Given the description of an element on the screen output the (x, y) to click on. 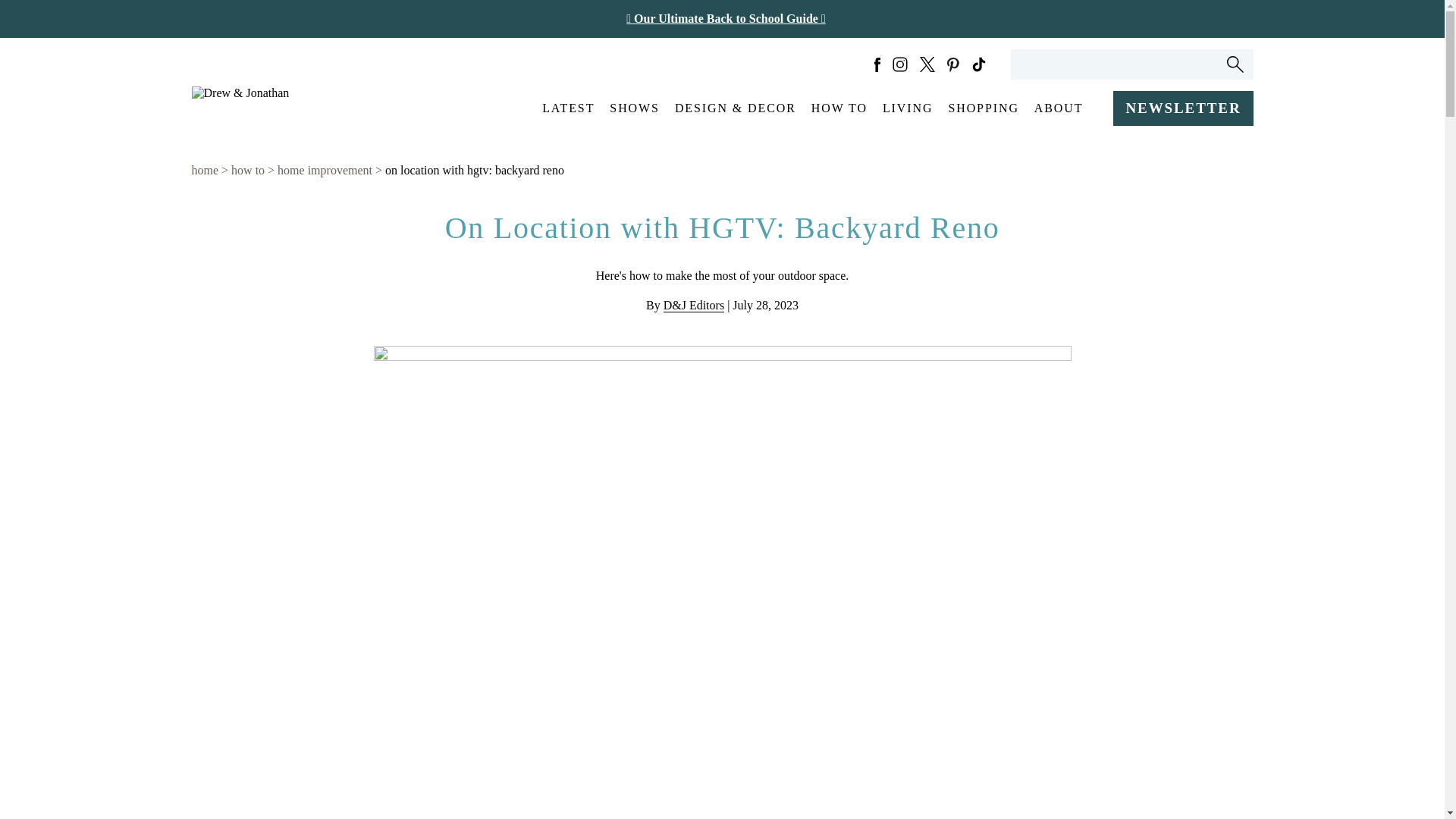
Search (1234, 64)
Search (1234, 64)
SHOWS (634, 108)
LATEST (568, 108)
HOW TO (839, 108)
LIVING (907, 108)
